Given the description of an element on the screen output the (x, y) to click on. 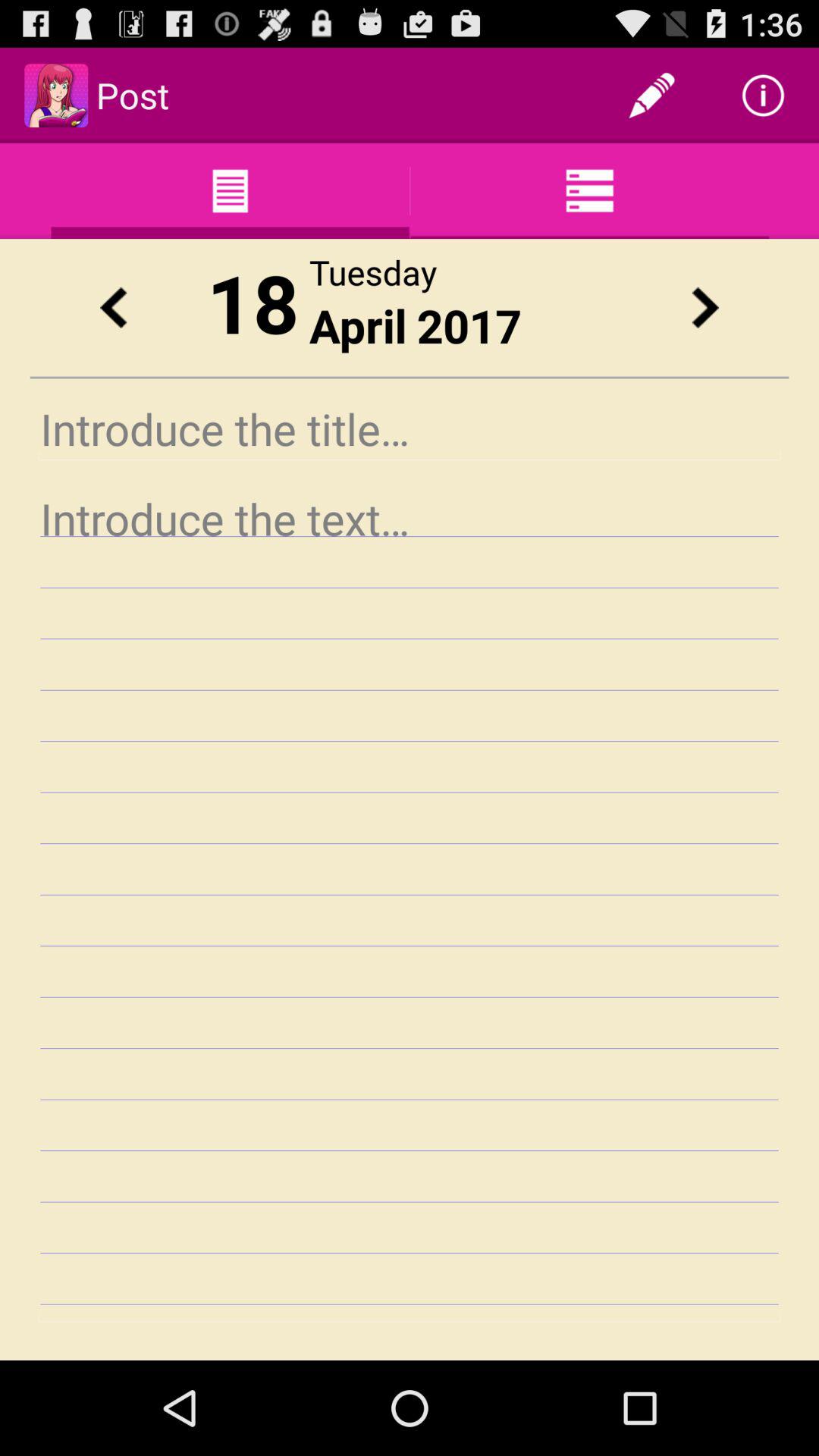
turn on the app next to the post item (651, 95)
